Given the description of an element on the screen output the (x, y) to click on. 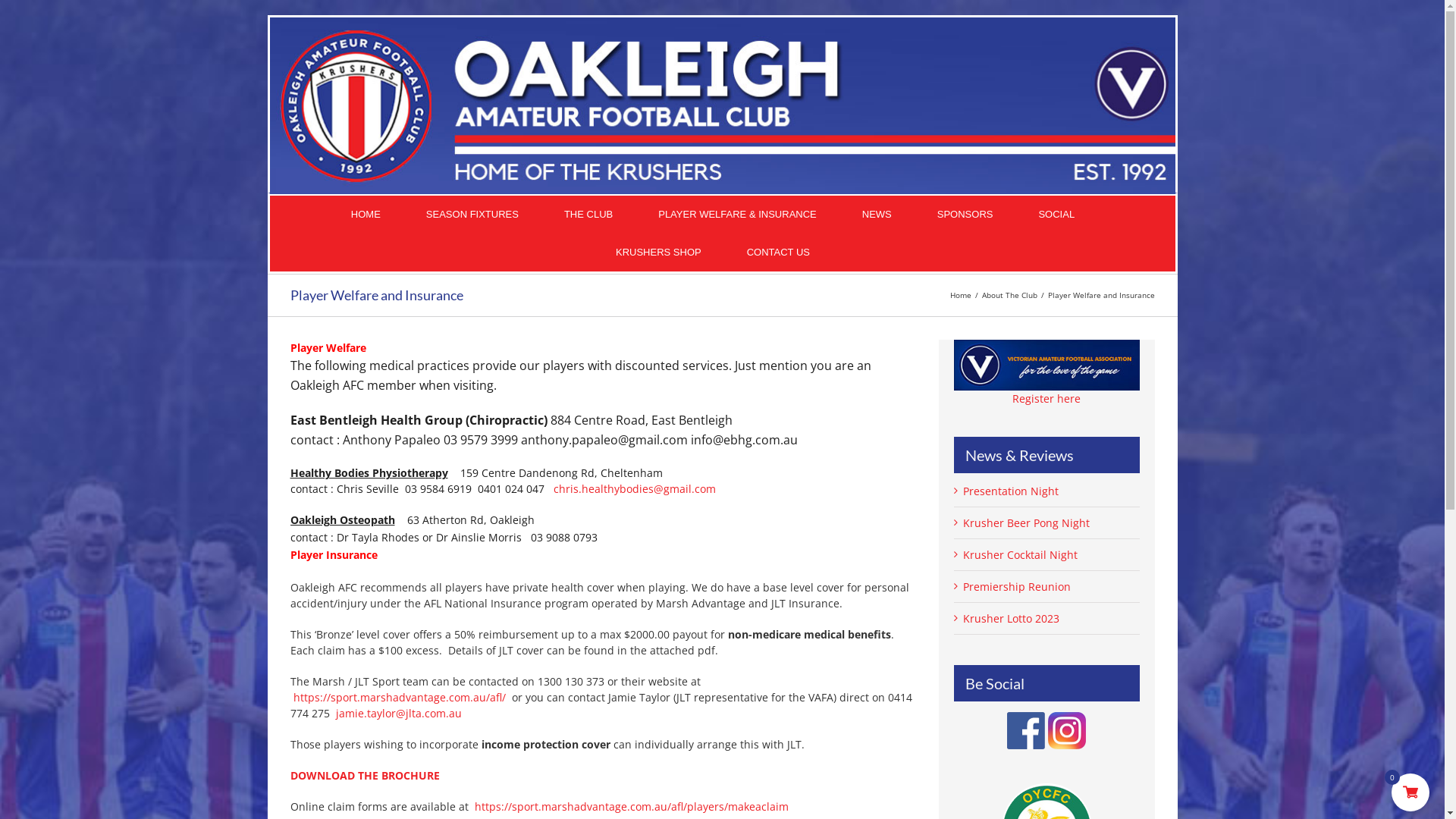
SEASON FIXTURES Element type: text (471, 214)
PLAYER WELFARE & INSURANCE Element type: text (737, 214)
SOCIAL Element type: text (1056, 214)
Krusher Lotto 2023 Element type: text (1011, 618)
jamie.taylor@jlta.com.au Element type: text (398, 713)
HOME Element type: text (365, 214)
Home Element type: text (959, 294)
Premiership Reunion Element type: text (1016, 586)
Presentation Night Element type: text (1010, 490)
THE CLUB Element type: text (587, 214)
https://sport.marshadvantage.com.au/afl/ Element type: text (398, 697)
CONTACT US Element type: text (777, 252)
KRUSHERS SHOP Element type: text (658, 252)
Krusher Beer Pong Night Element type: text (1026, 522)
Krusher Cocktail Night Element type: text (1020, 554)
SPONSORS Element type: text (964, 214)
NEWS Element type: text (876, 214)
About The Club Element type: text (1008, 294)
chris.healthybodies@gmail.com Element type: text (634, 488)
https://sport.marshadvantage.com.au/afl/players/makeaclaim Element type: text (631, 806)
Register here Element type: text (1046, 398)
DOWNLOAD THE BROCHURE Element type: text (364, 775)
